Given the description of an element on the screen output the (x, y) to click on. 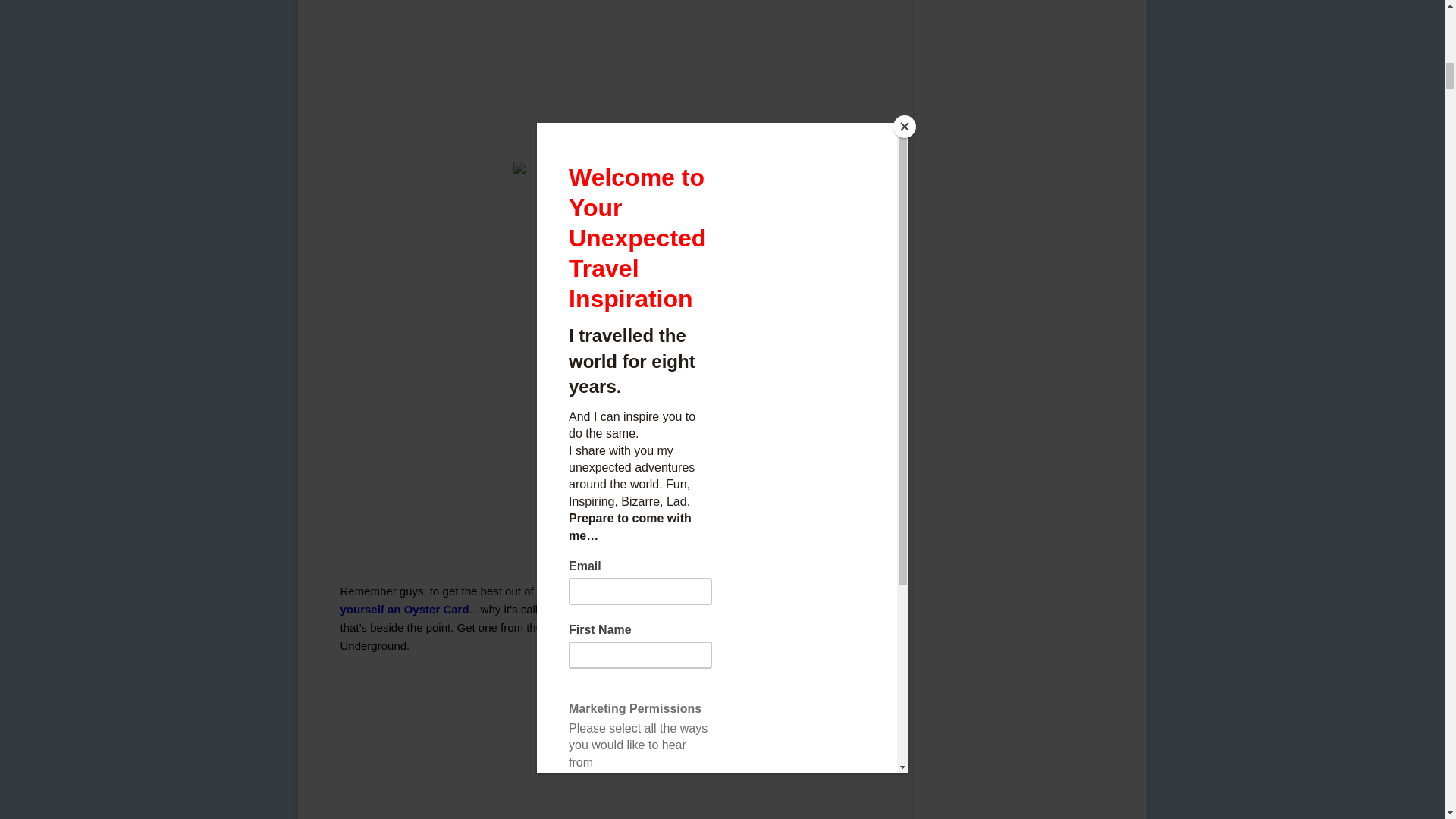
The Underground Train (626, 742)
Leading into the Underground (625, 246)
Victoria Station (625, 74)
